Given the description of an element on the screen output the (x, y) to click on. 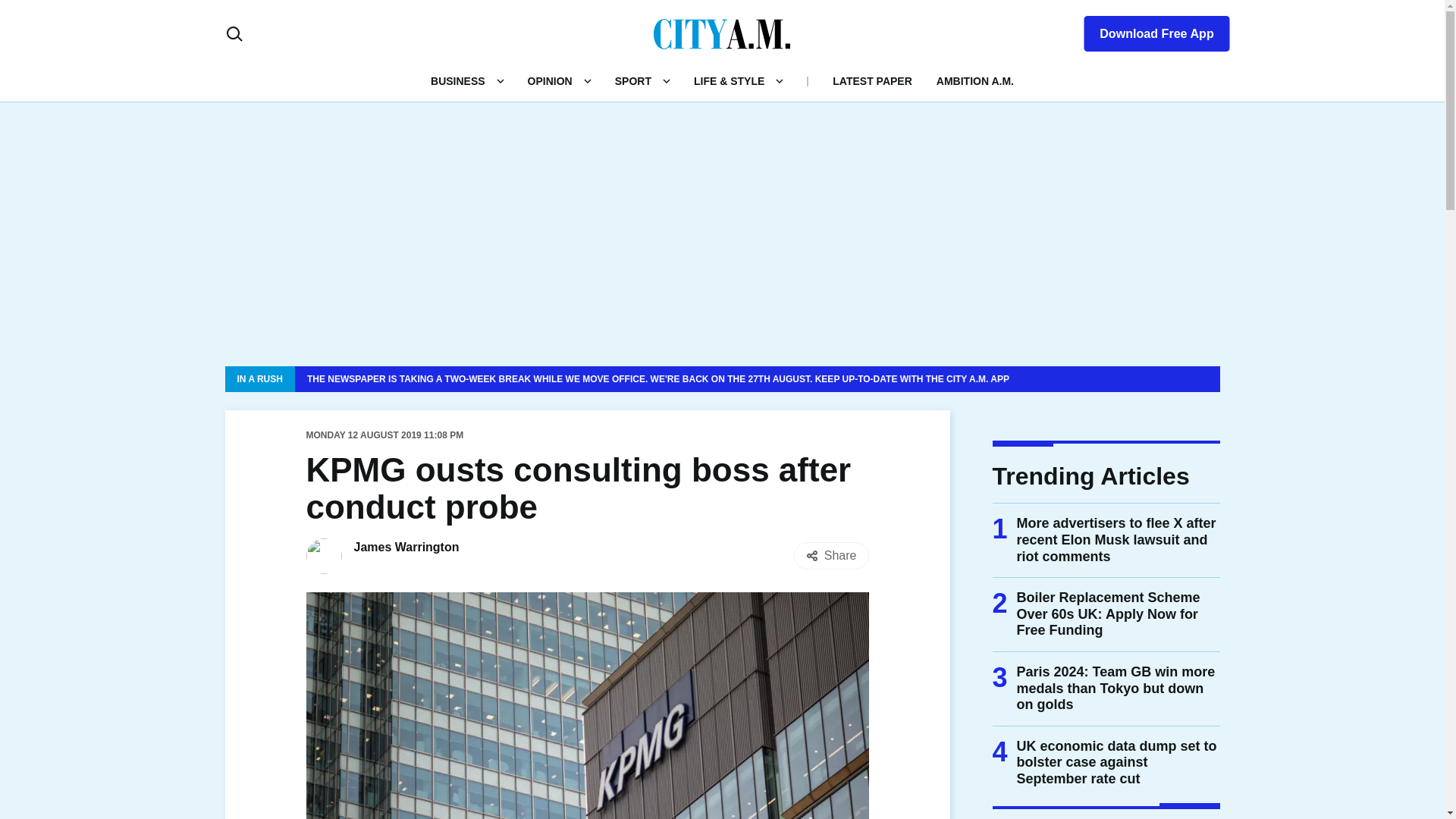
Download Free App (1146, 30)
OPINION (549, 80)
CityAM (721, 33)
BUSINESS (457, 80)
SPORT (632, 80)
